Given the description of an element on the screen output the (x, y) to click on. 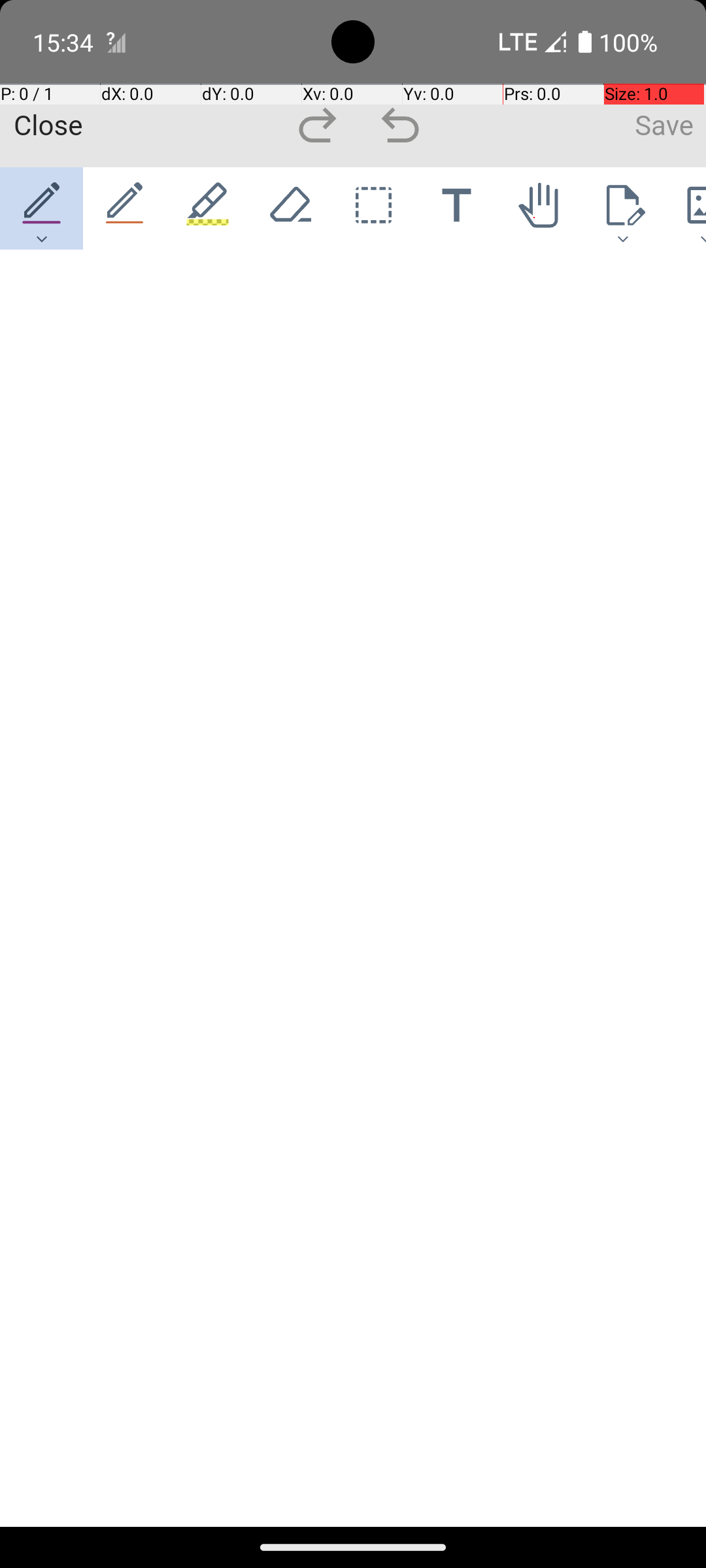
Done loading. Element type: android.widget.TextView (48, 281)
Re-render as text Element type: android.widget.Button (47, 308)
Enable sound-based exploration Element type: android.widget.Button (70, 309)
Pen 1 Element type: android.widget.ToggleButton (41, 208)
Pen 2 Element type: android.widget.Button (125, 208)
Pen 3 Element type: android.widget.Button (207, 208)
Text Element type: android.widget.Button (455, 208)
Pan Element type: android.widget.Button (540, 208)
Page Element type: android.widget.Button (622, 208)
